Given the description of an element on the screen output the (x, y) to click on. 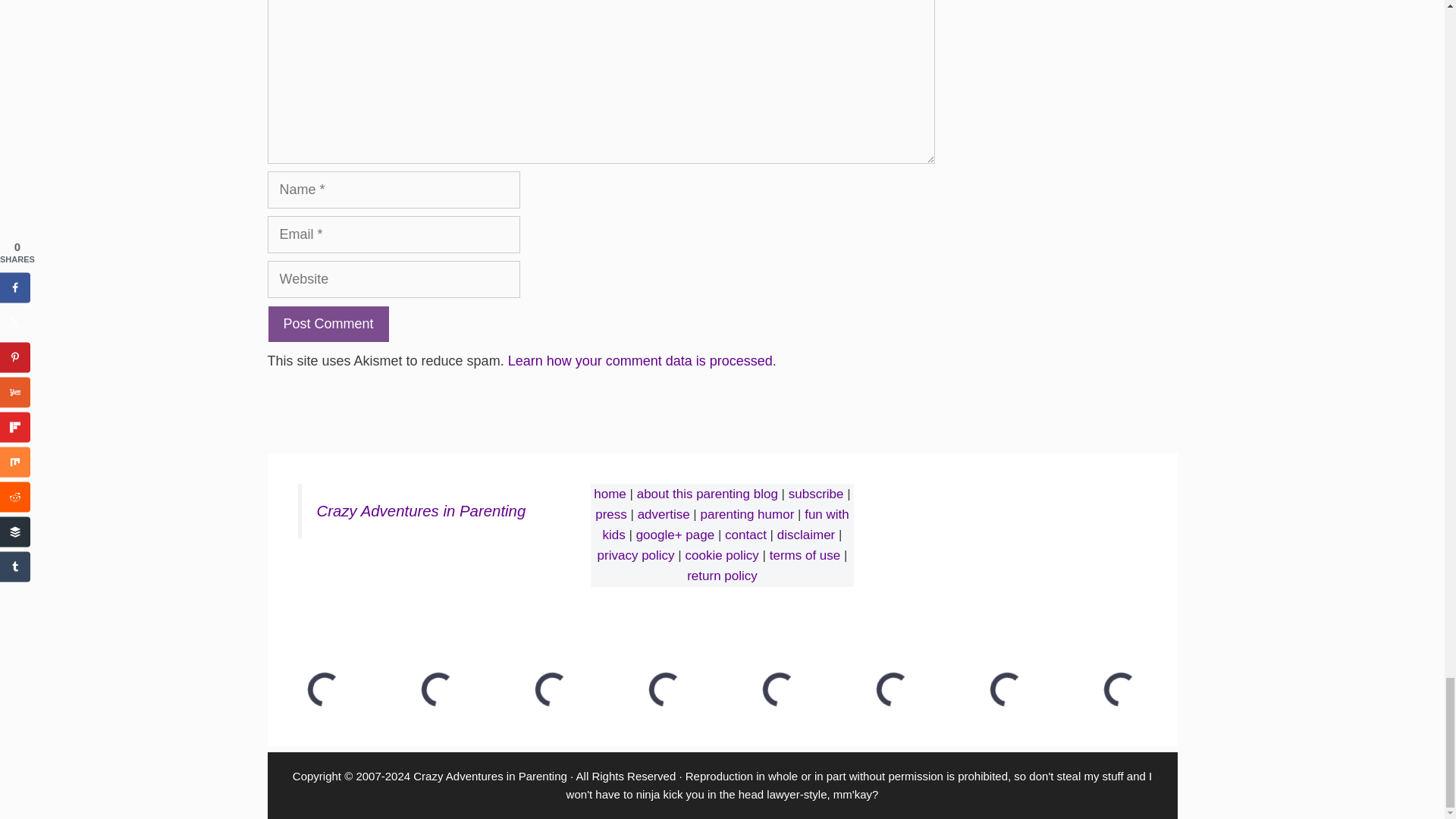
Post Comment (327, 324)
